Given the description of an element on the screen output the (x, y) to click on. 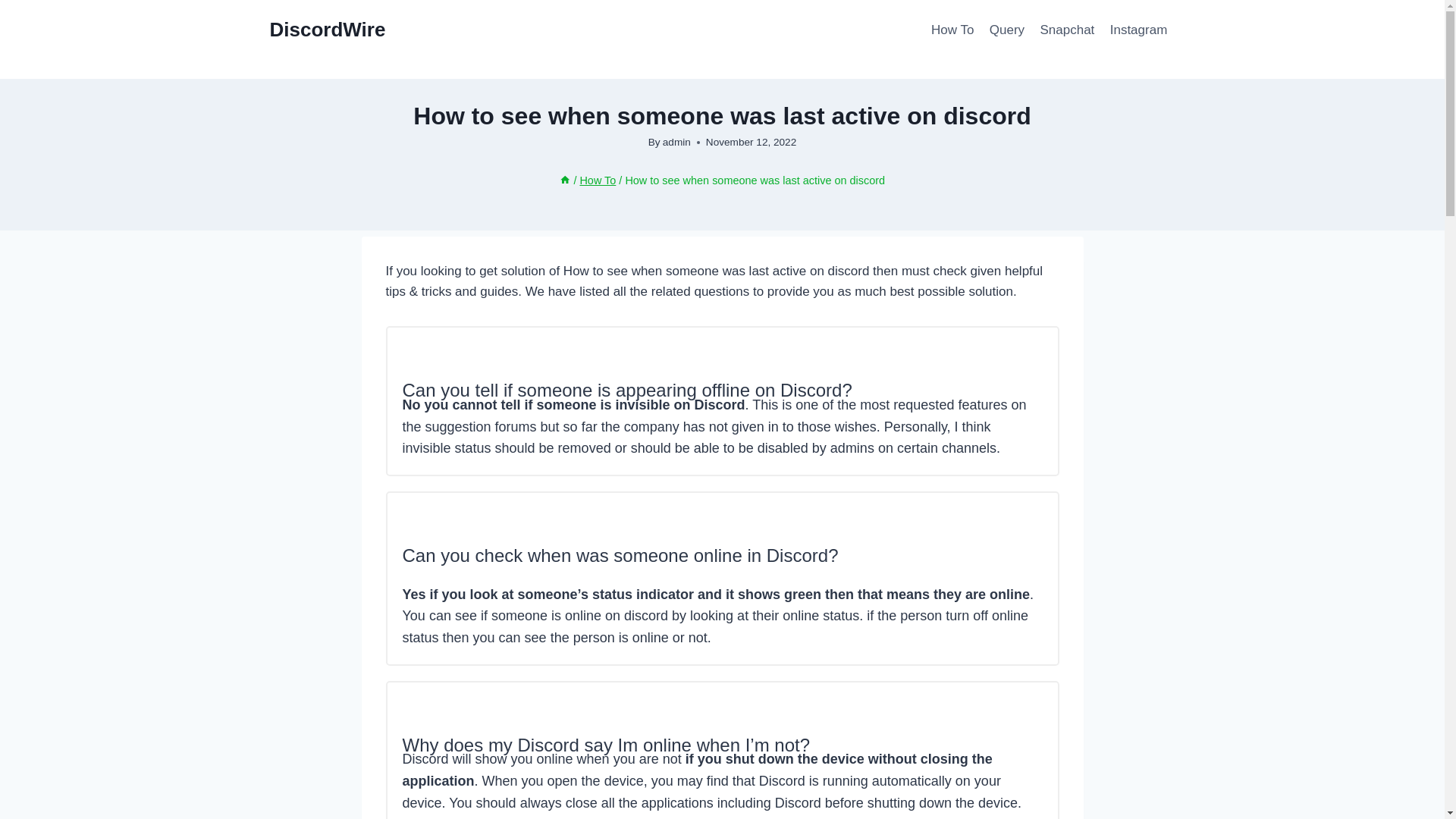
DiscordWire (327, 29)
Query (1006, 30)
Instagram (1138, 30)
How To (952, 30)
How To (597, 180)
Snapchat (1067, 30)
